Given the description of an element on the screen output the (x, y) to click on. 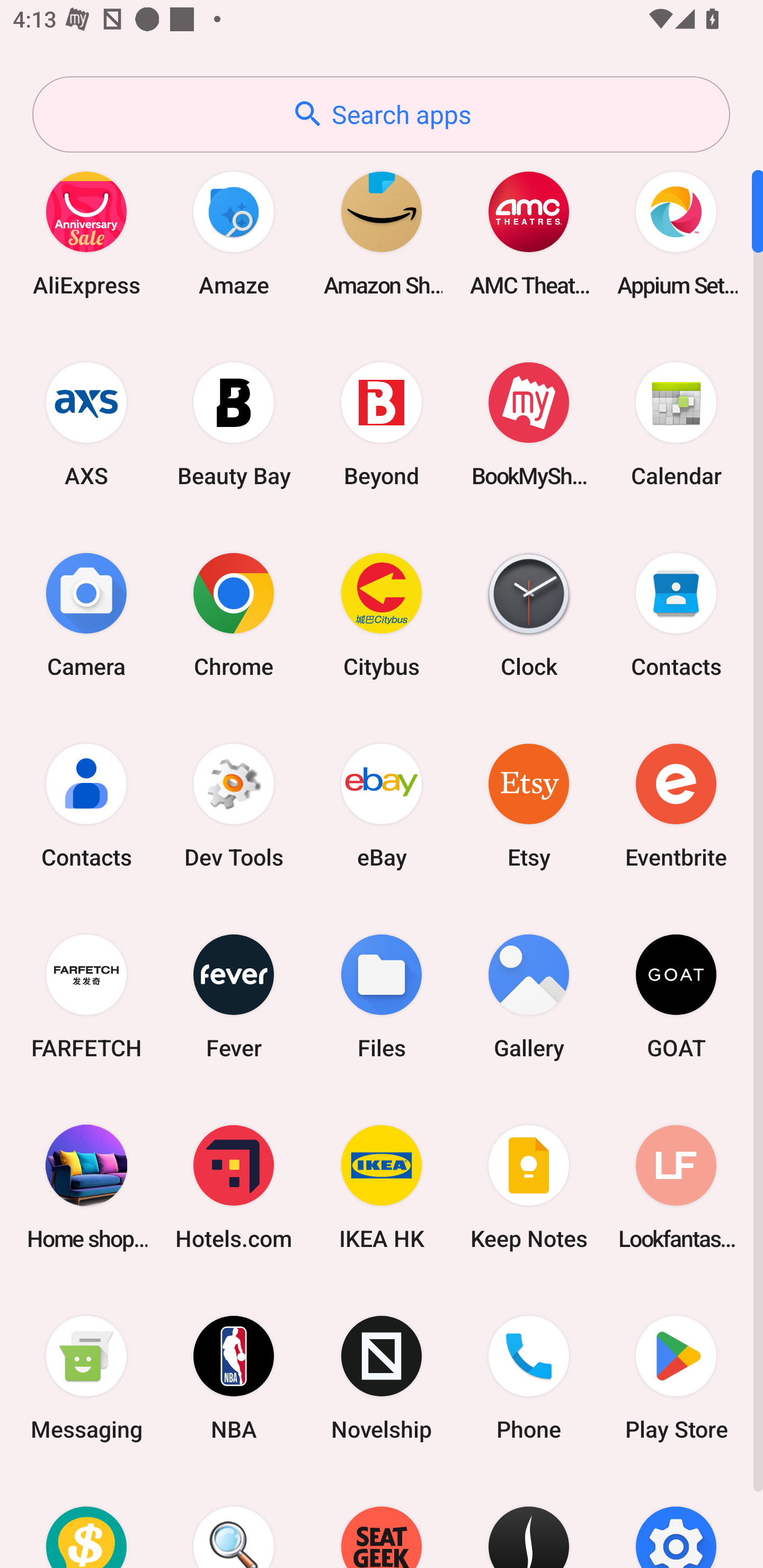
  Search apps (381, 114)
AliExpress (86, 233)
Amaze (233, 233)
Amazon Shopping (381, 233)
AMC Theatres (528, 233)
Appium Settings (676, 233)
AXS (86, 424)
Beauty Bay (233, 424)
Beyond (381, 424)
BookMyShow (528, 424)
Calendar (676, 424)
Camera (86, 614)
Chrome (233, 614)
Citybus (381, 614)
Clock (528, 614)
Contacts (676, 614)
Contacts (86, 805)
Dev Tools (233, 805)
eBay (381, 805)
Etsy (528, 805)
Eventbrite (676, 805)
FARFETCH (86, 996)
Fever (233, 996)
Files (381, 996)
Gallery (528, 996)
GOAT (676, 996)
Home shopping (86, 1186)
Hotels.com (233, 1186)
IKEA HK (381, 1186)
Keep Notes (528, 1186)
Lookfantastic (676, 1186)
Messaging (86, 1377)
NBA (233, 1377)
Novelship (381, 1377)
Phone (528, 1377)
Play Store (676, 1377)
Price (86, 1520)
Search (233, 1520)
SeatGeek (381, 1520)
Sephora (528, 1520)
Settings (676, 1520)
